Given the description of an element on the screen output the (x, y) to click on. 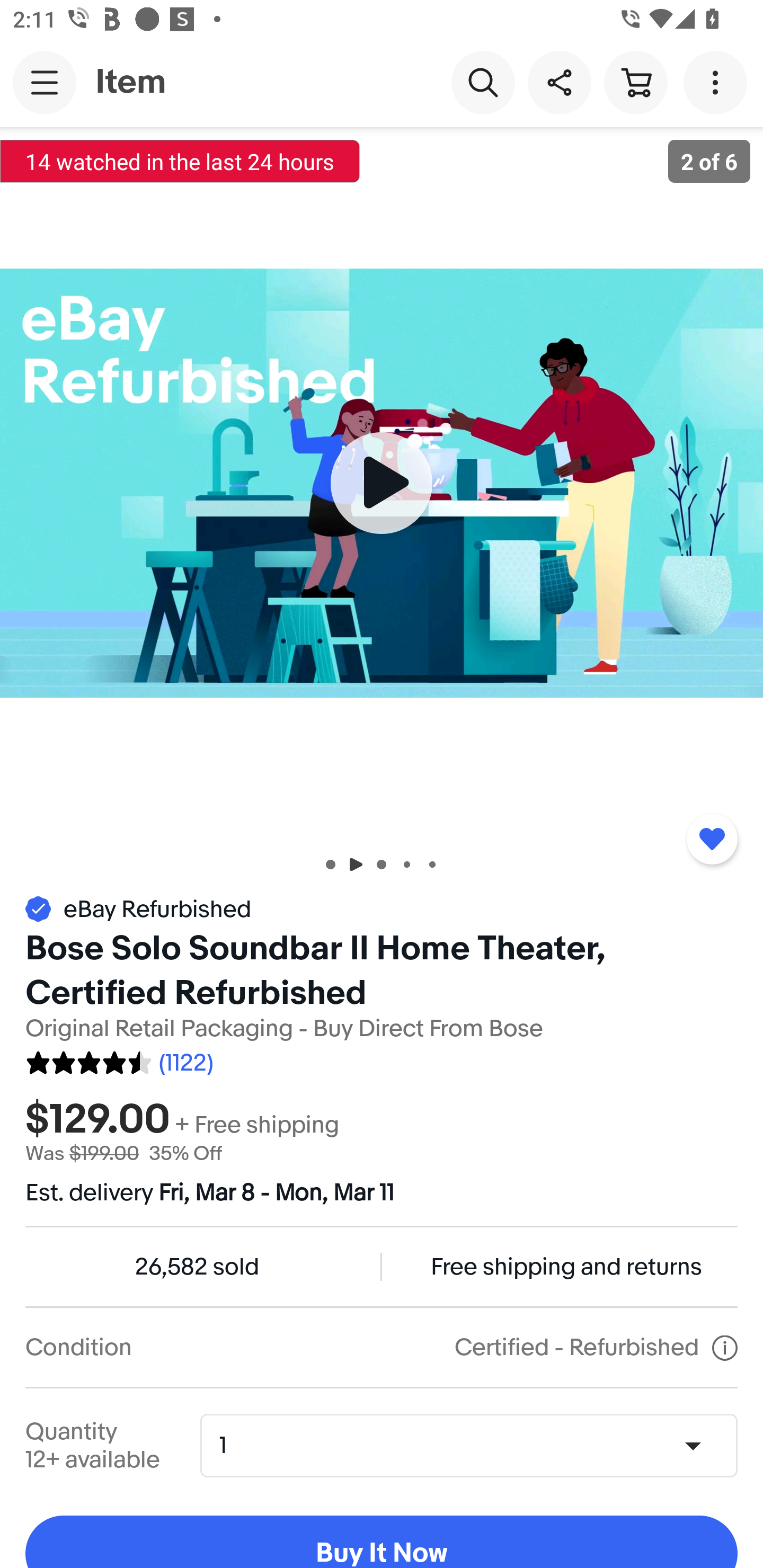
Main navigation, open (44, 82)
Search (482, 81)
Share this item (559, 81)
Cart button shopping cart (635, 81)
More options (718, 81)
Item image 2 of 6, plays video (381, 482)
14 watched in the last 24 hours (180, 161)
Added to watchlist (711, 838)
Quantity,1,12+ available 1 (474, 1445)
Buy It Now (381, 1542)
